Given the description of an element on the screen output the (x, y) to click on. 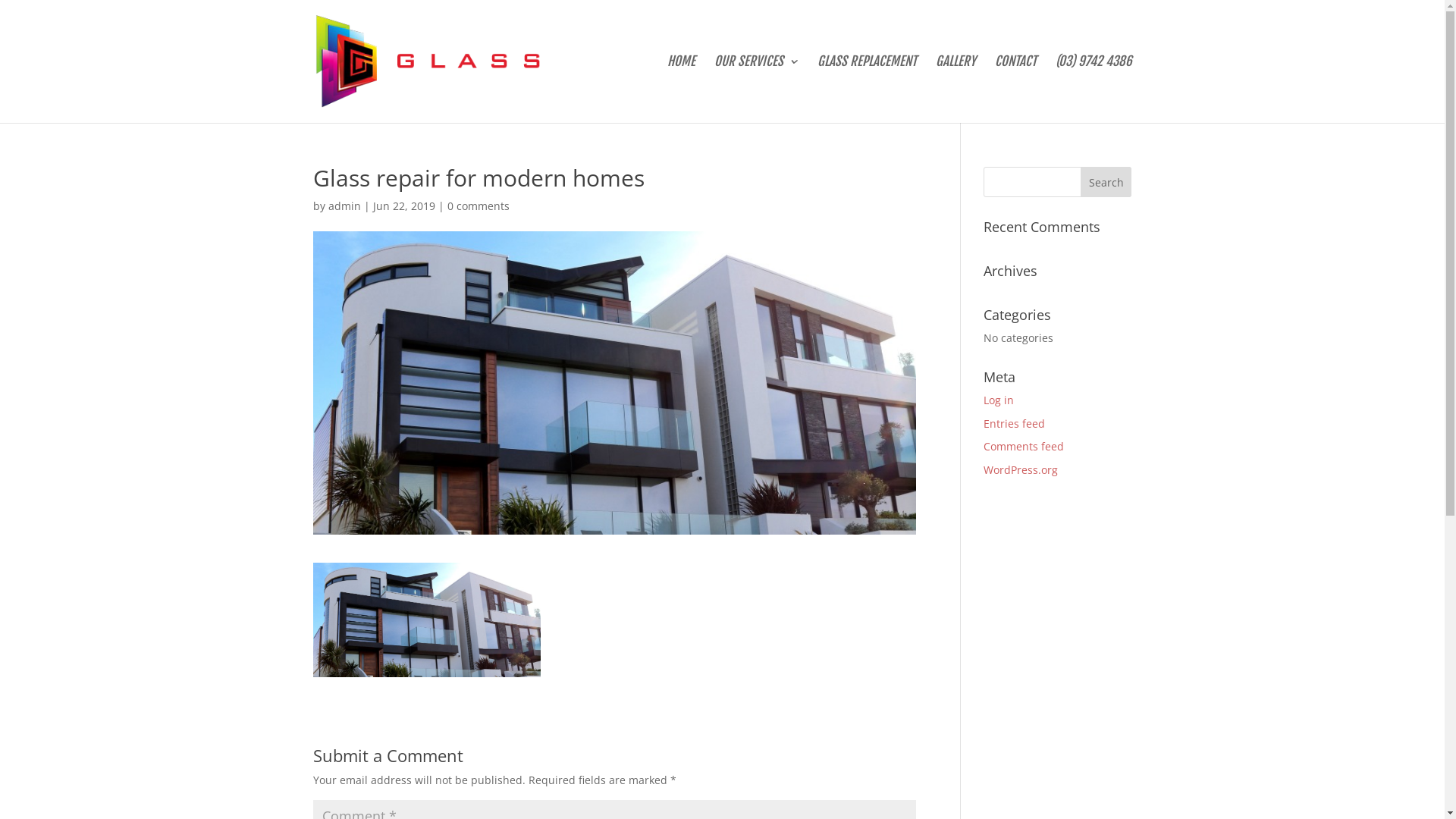
OUR SERVICES Element type: text (756, 89)
Log in Element type: text (998, 399)
GALLERY Element type: text (955, 89)
(03) 9742 4386 Element type: text (1093, 89)
0 comments Element type: text (478, 205)
Search Element type: text (1106, 181)
WordPress.org Element type: text (1020, 469)
Comments feed Element type: text (1023, 446)
GLASS REPLACEMENT Element type: text (866, 89)
HOME Element type: text (681, 89)
CONTACT Element type: text (1015, 89)
admin Element type: text (343, 205)
Entries feed Element type: text (1013, 423)
